Given the description of an element on the screen output the (x, y) to click on. 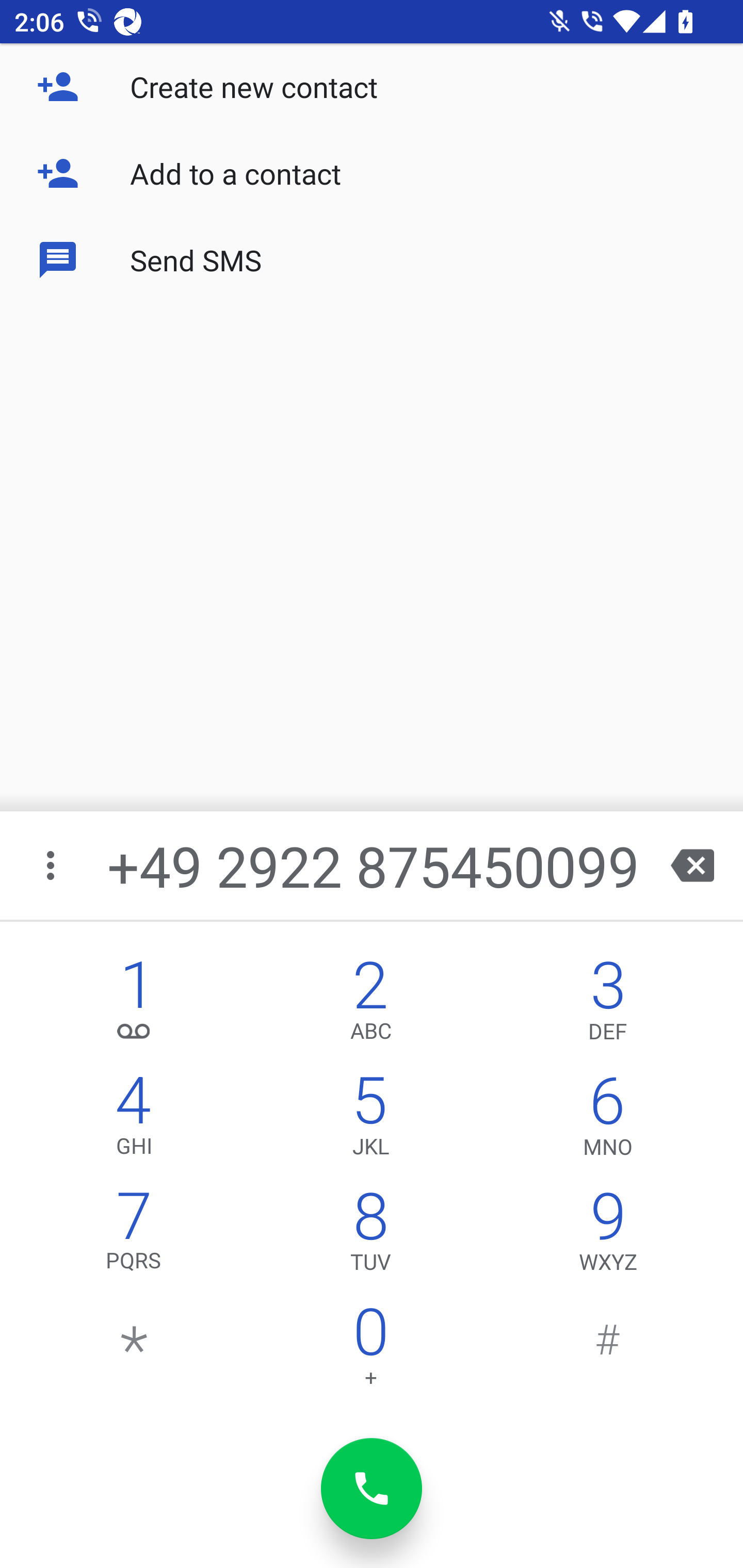
Create new contact (371, 86)
Add to a contact (371, 173)
Send SMS (371, 259)
+49 2922 875450099 (372, 865)
backspace (692, 865)
More options (52, 865)
1, 1 (133, 1005)
2,ABC 2 ABC (370, 1005)
3,DEF 3 DEF (607, 1005)
4,GHI 4 GHI (133, 1120)
5,JKL 5 JKL (370, 1120)
6,MNO 6 MNO (607, 1120)
7,PQRS 7 PQRS (133, 1235)
8,TUV 8 TUV (370, 1235)
9,WXYZ 9 WXYZ (607, 1235)
* (133, 1351)
0 0 + (370, 1351)
# (607, 1351)
dial (371, 1488)
